Given the description of an element on the screen output the (x, y) to click on. 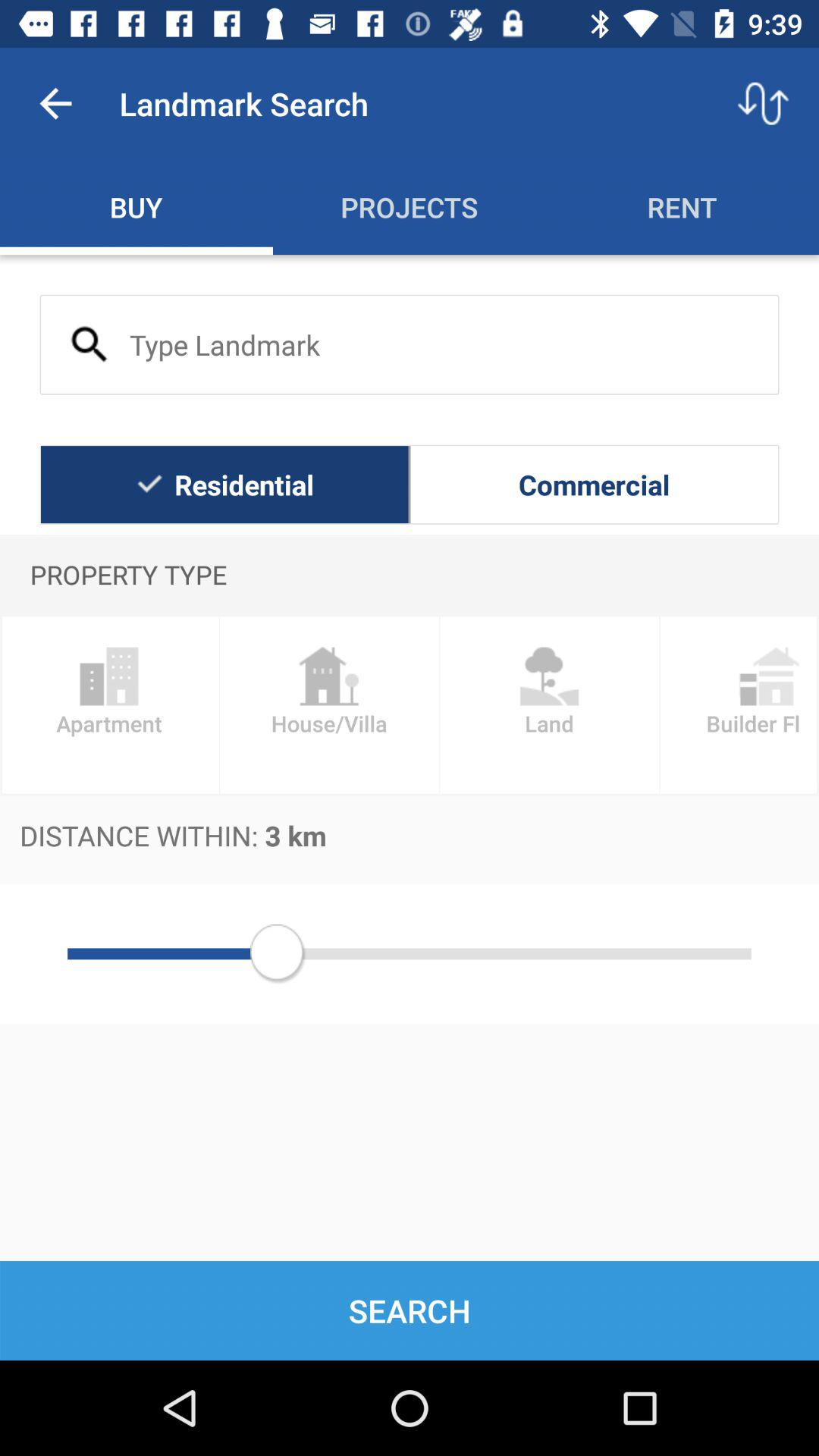
press the item above rent item (763, 103)
